Given the description of an element on the screen output the (x, y) to click on. 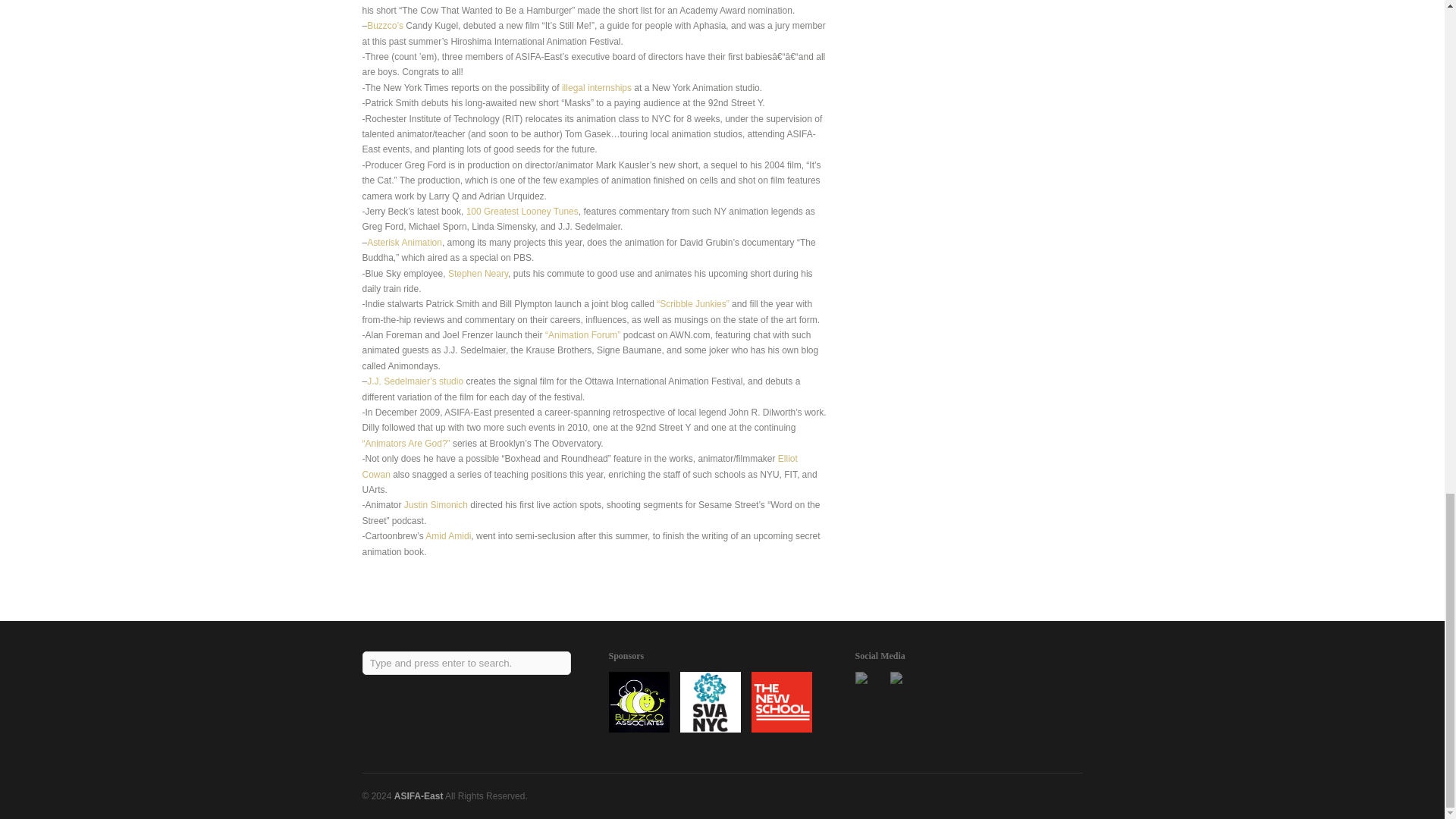
Asterisk Animation (404, 242)
Stephen Neary (478, 272)
Elliot Cowan (579, 466)
100 Greatest Looney Tunes (521, 211)
Type and press enter to search. (467, 662)
illegal internships (596, 87)
Amid Amidi (447, 535)
Justin Simonich (435, 504)
